Given the description of an element on the screen output the (x, y) to click on. 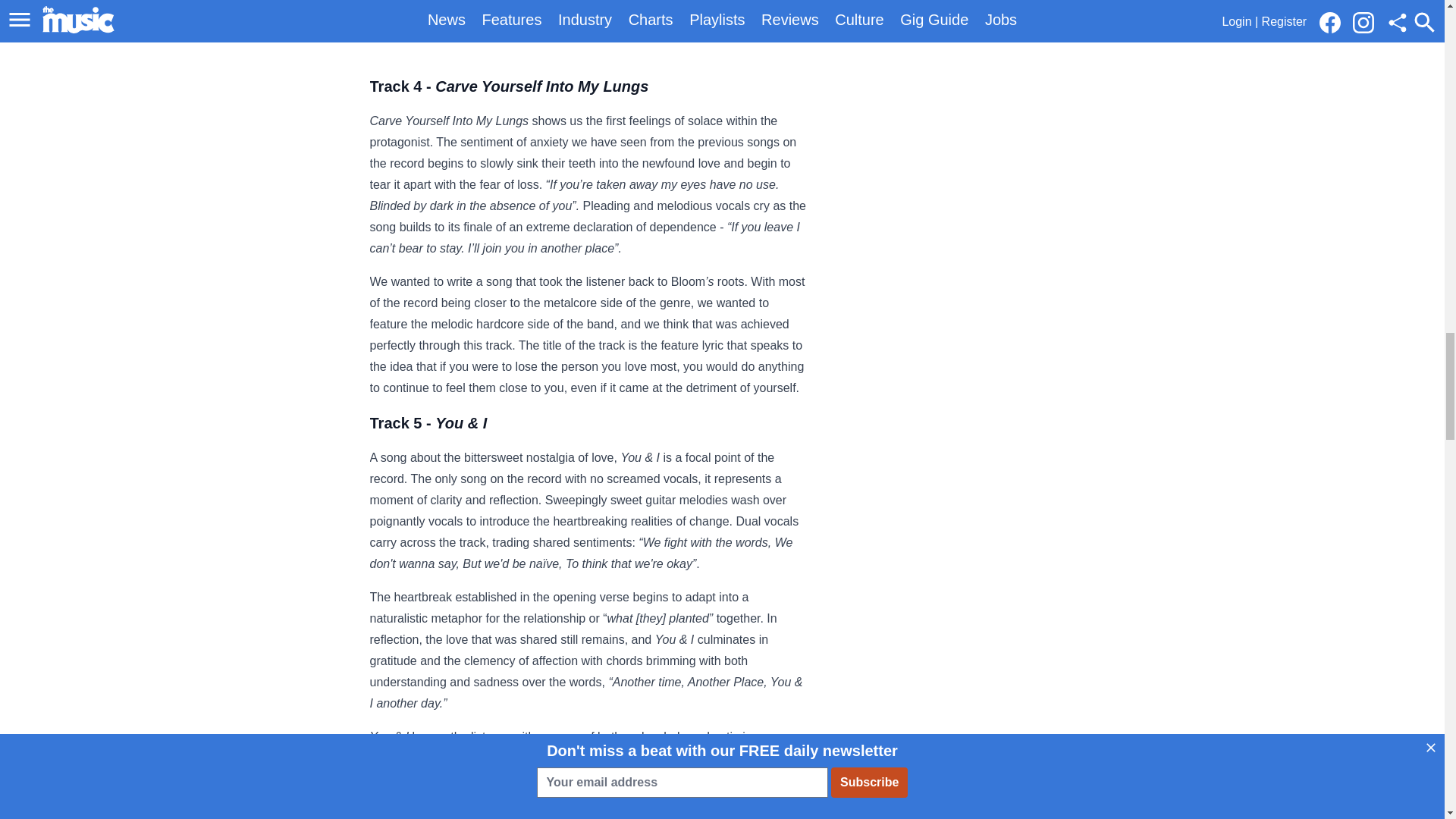
Bloom "Siren Song" (445, 31)
